Given the description of an element on the screen output the (x, y) to click on. 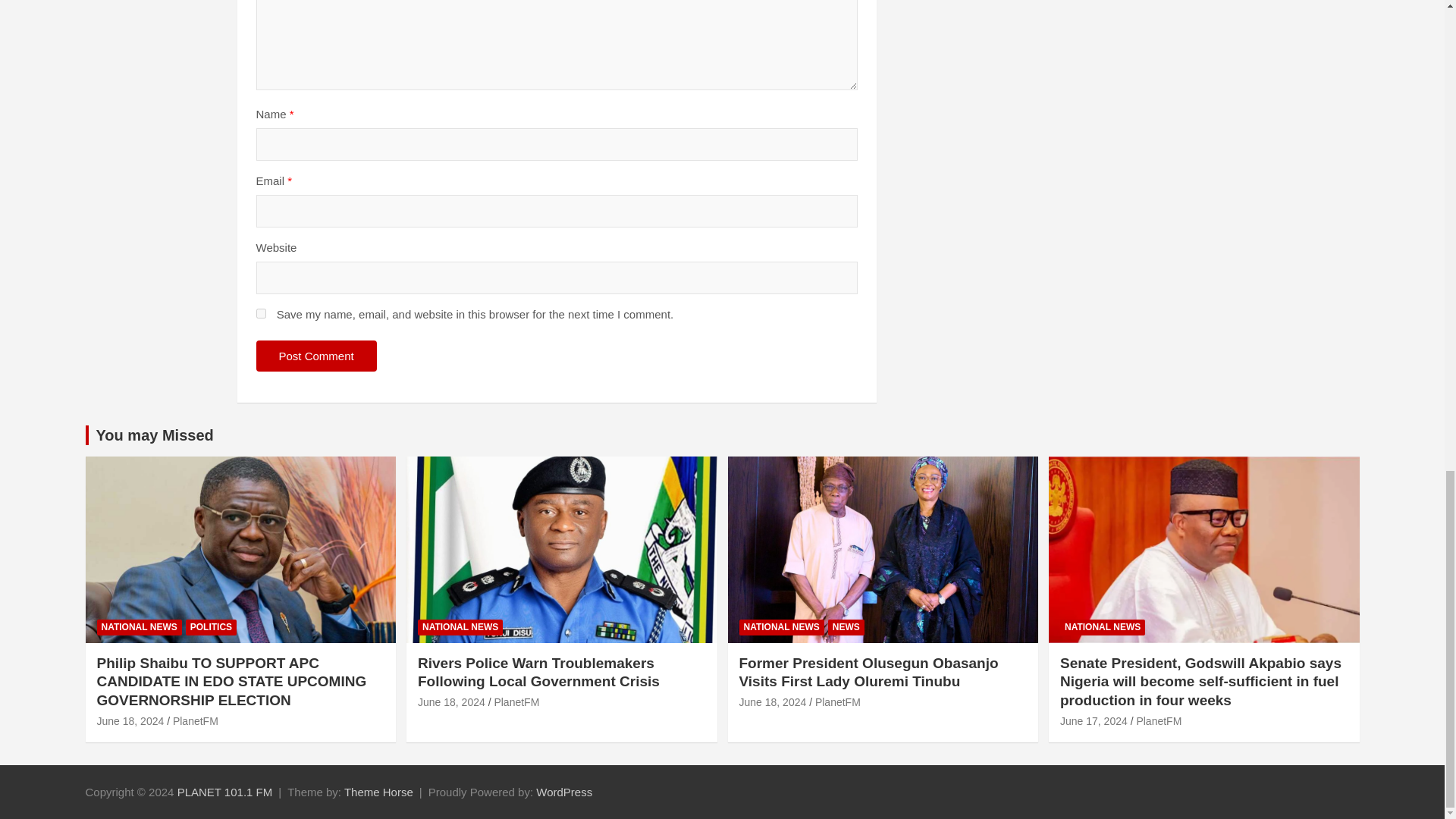
Post Comment (316, 355)
yes (261, 313)
Post Comment (316, 355)
PLANET 101.1 FM (225, 791)
Theme Horse (378, 791)
WordPress (563, 791)
